Given the description of an element on the screen output the (x, y) to click on. 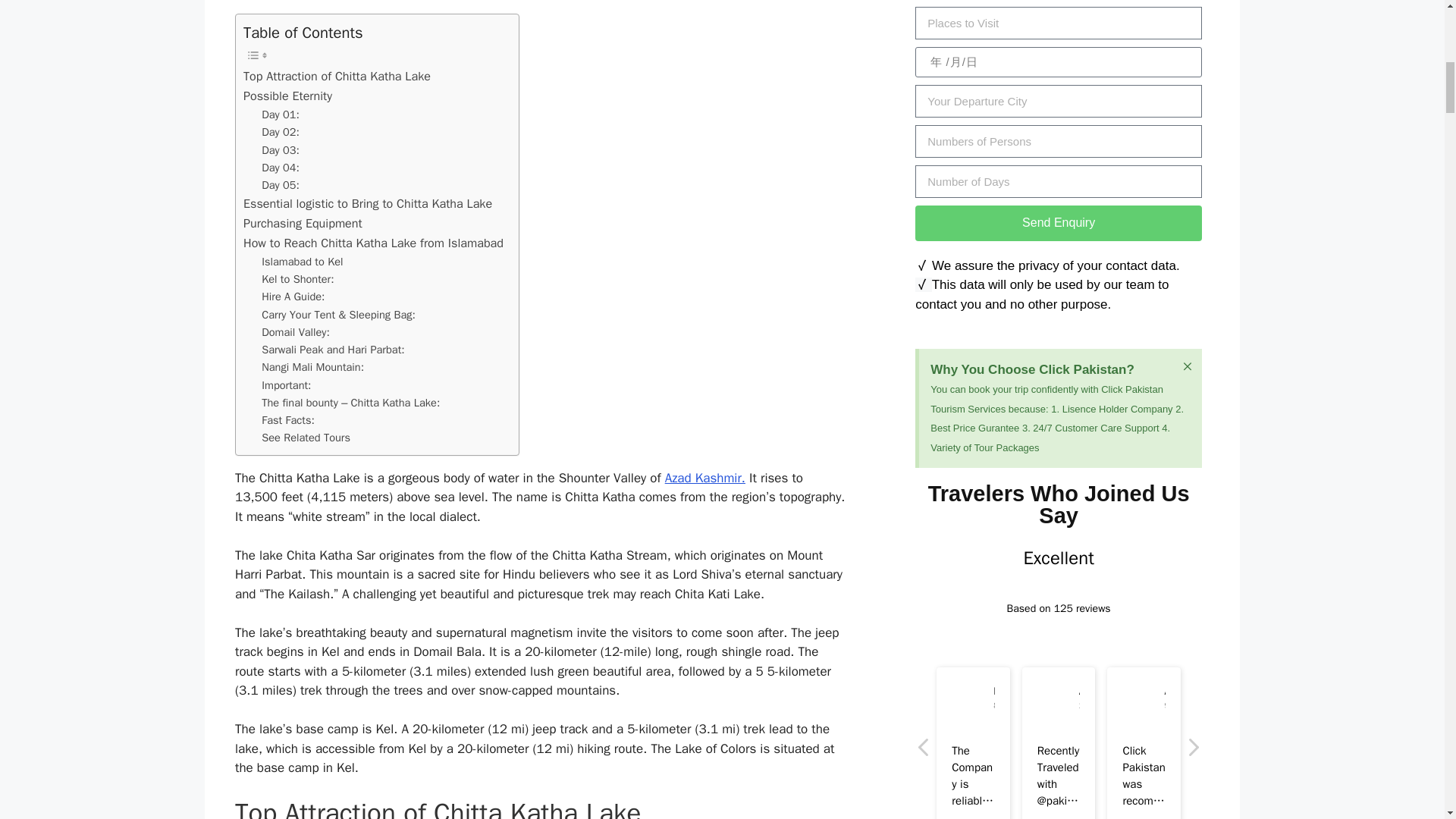
Purchasing Equipment (302, 223)
Islamabad to Kel (302, 262)
Domail Valley: (296, 332)
Possible Eternity (287, 96)
How to Reach Chitta Katha Lake from Islamabad (373, 243)
Top Attraction of Chitta Katha Lake (336, 76)
Kel to Shonter: (297, 279)
Essential logistic to Bring to Chitta Katha Lake (367, 203)
